Given the description of an element on the screen output the (x, y) to click on. 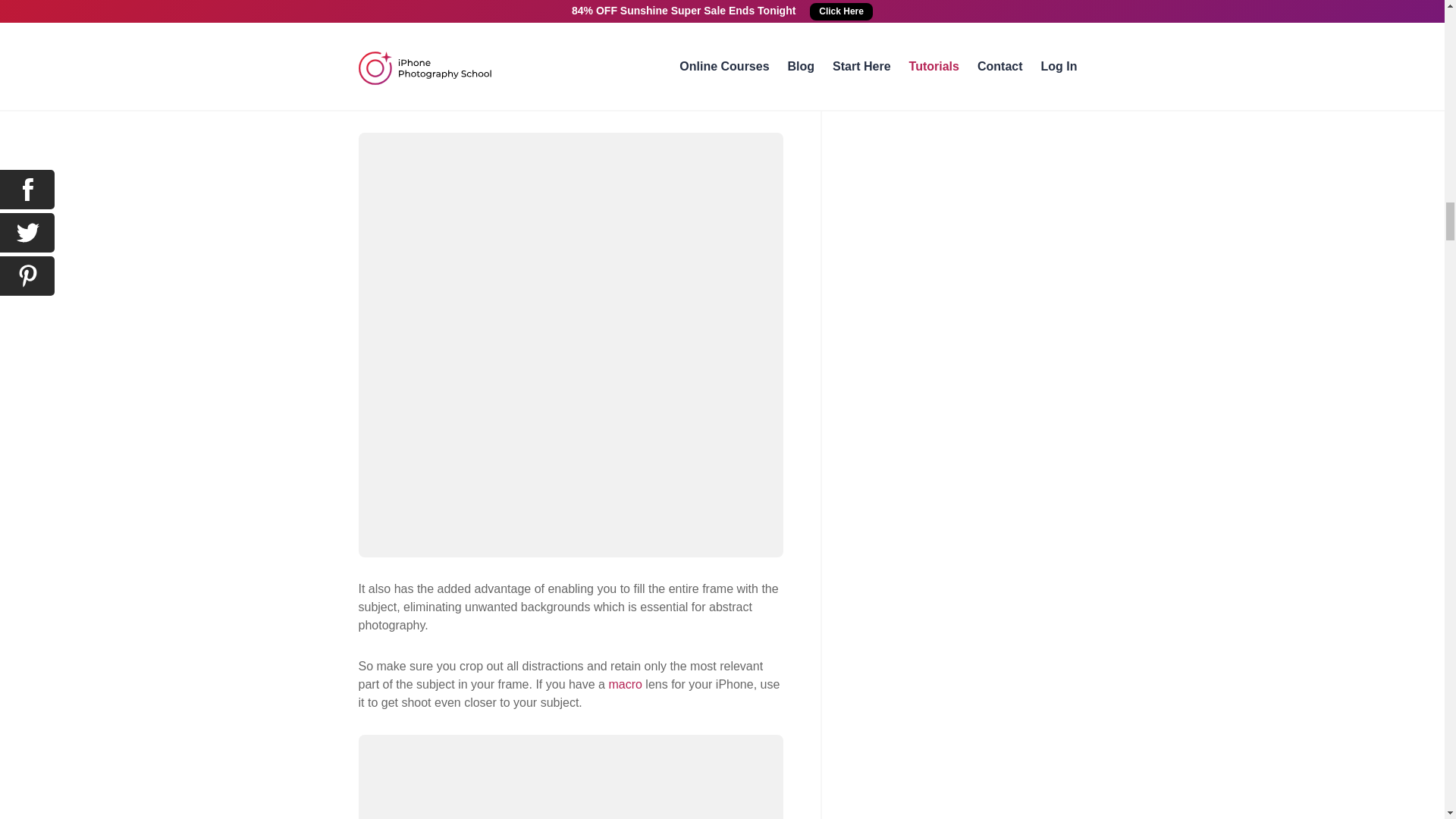
How to Take Great Macro Photos With Your iPhone (625, 684)
macro (625, 684)
